Given the description of an element on the screen output the (x, y) to click on. 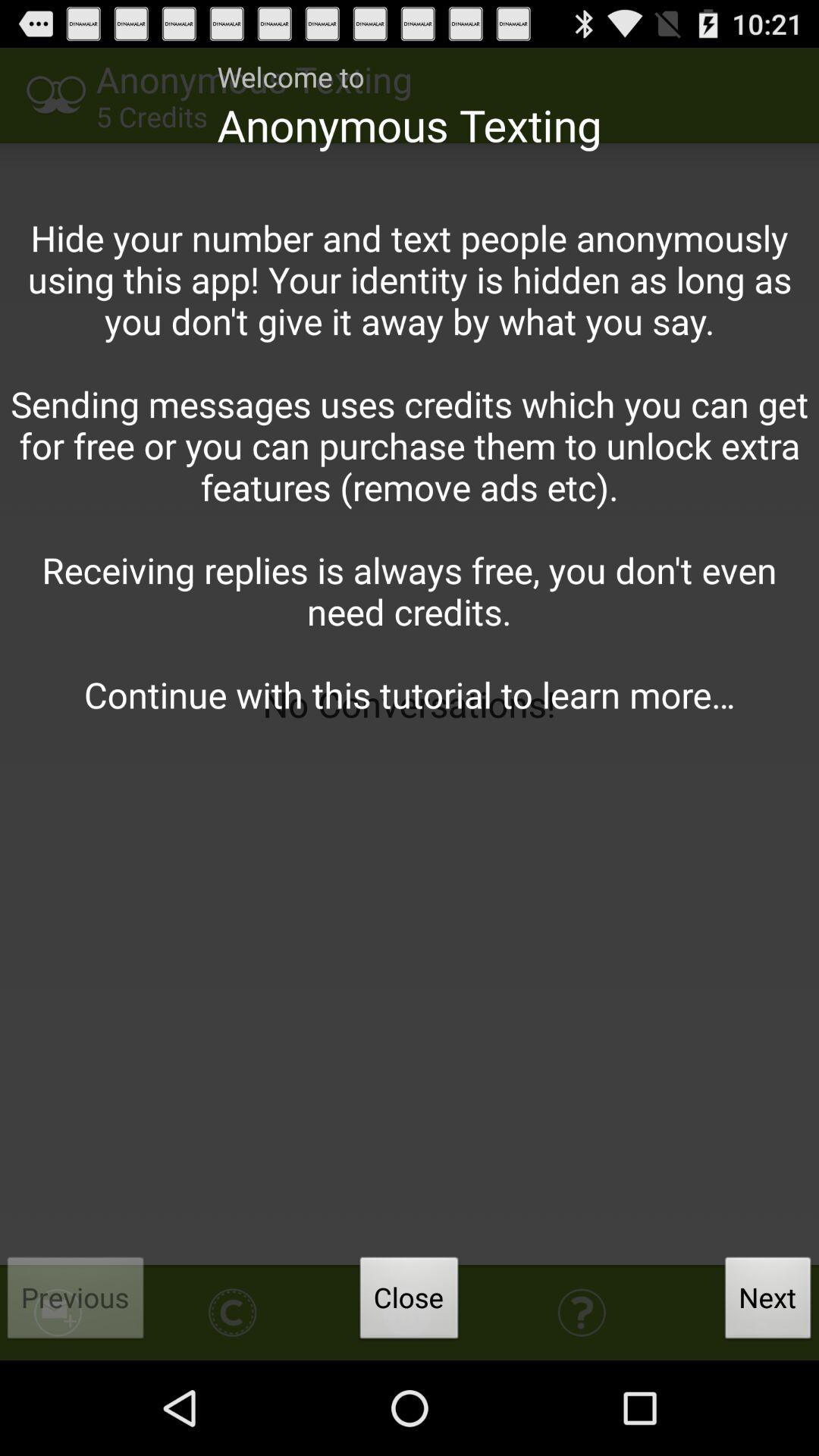
open item below hide your number (409, 1302)
